Given the description of an element on the screen output the (x, y) to click on. 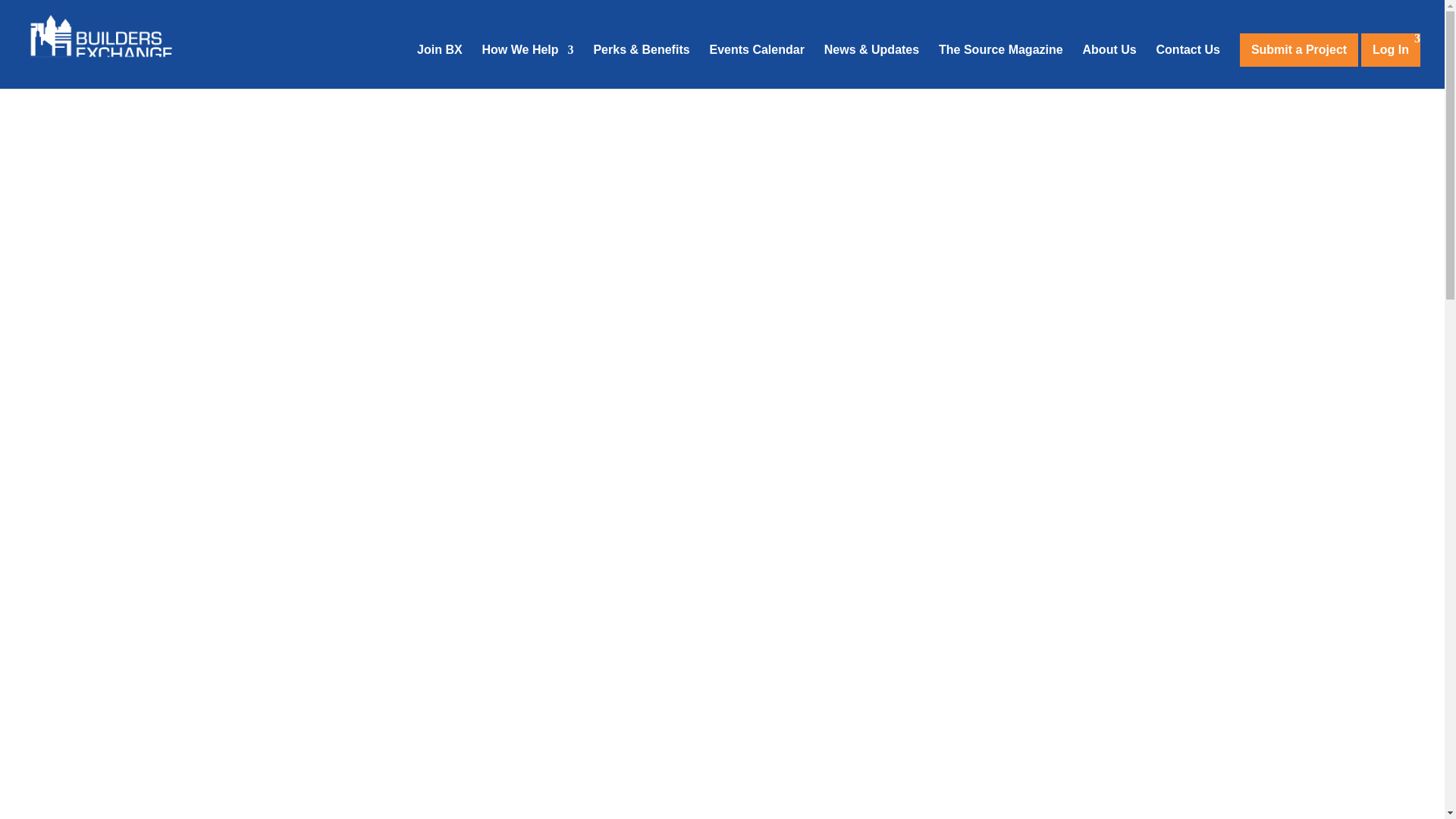
Contact Us (1188, 66)
About Us (1110, 66)
Submit a Project (1299, 49)
Join BX (439, 66)
The Source Magazine (1000, 66)
Events Calendar (757, 66)
Log In (1391, 49)
How We Help (527, 66)
